Given the description of an element on the screen output the (x, y) to click on. 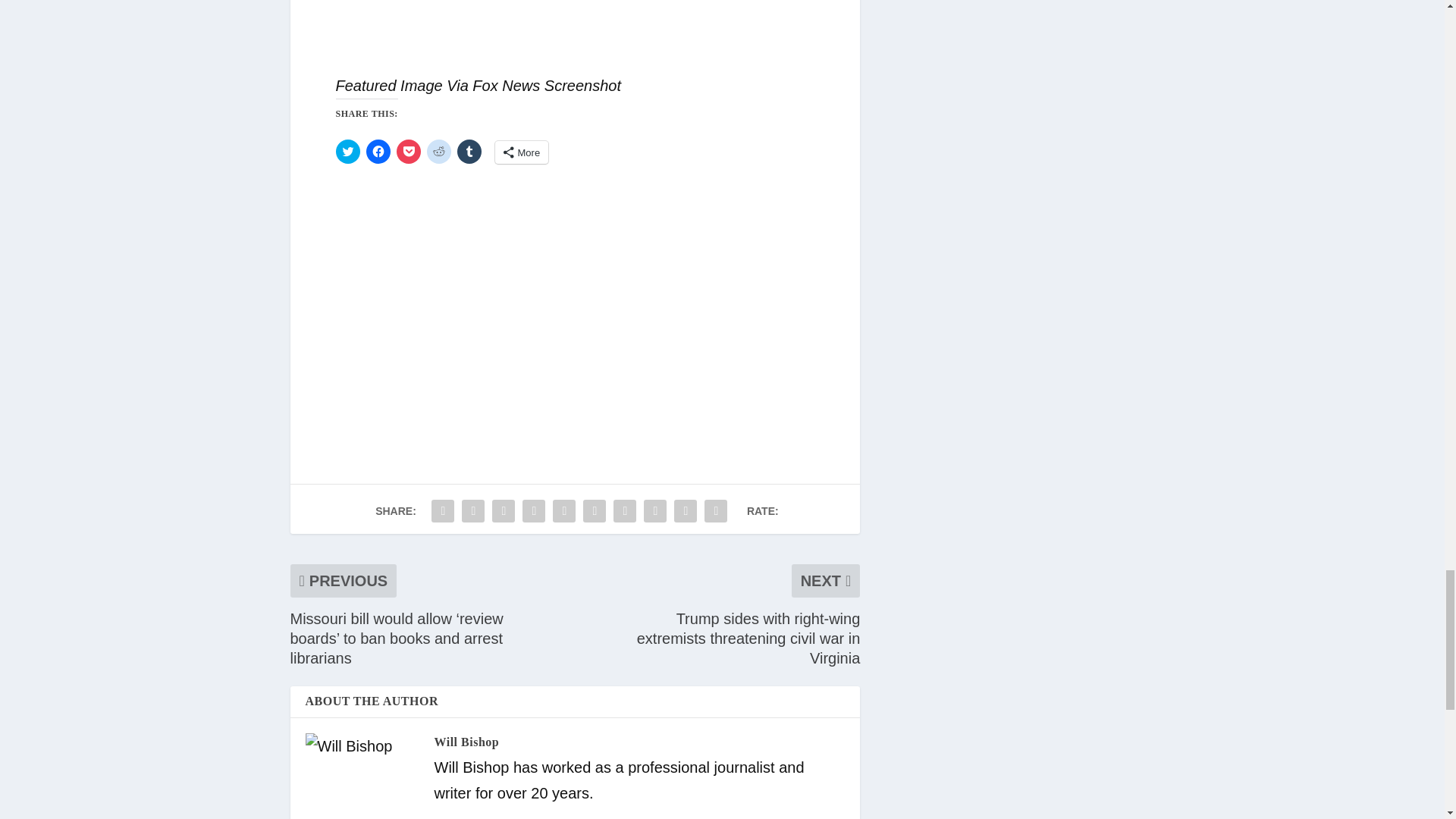
Click to share on Twitter (346, 151)
Click to share on Pocket (408, 151)
Click to share on Reddit (437, 151)
Click to share on Facebook (377, 151)
